Given the description of an element on the screen output the (x, y) to click on. 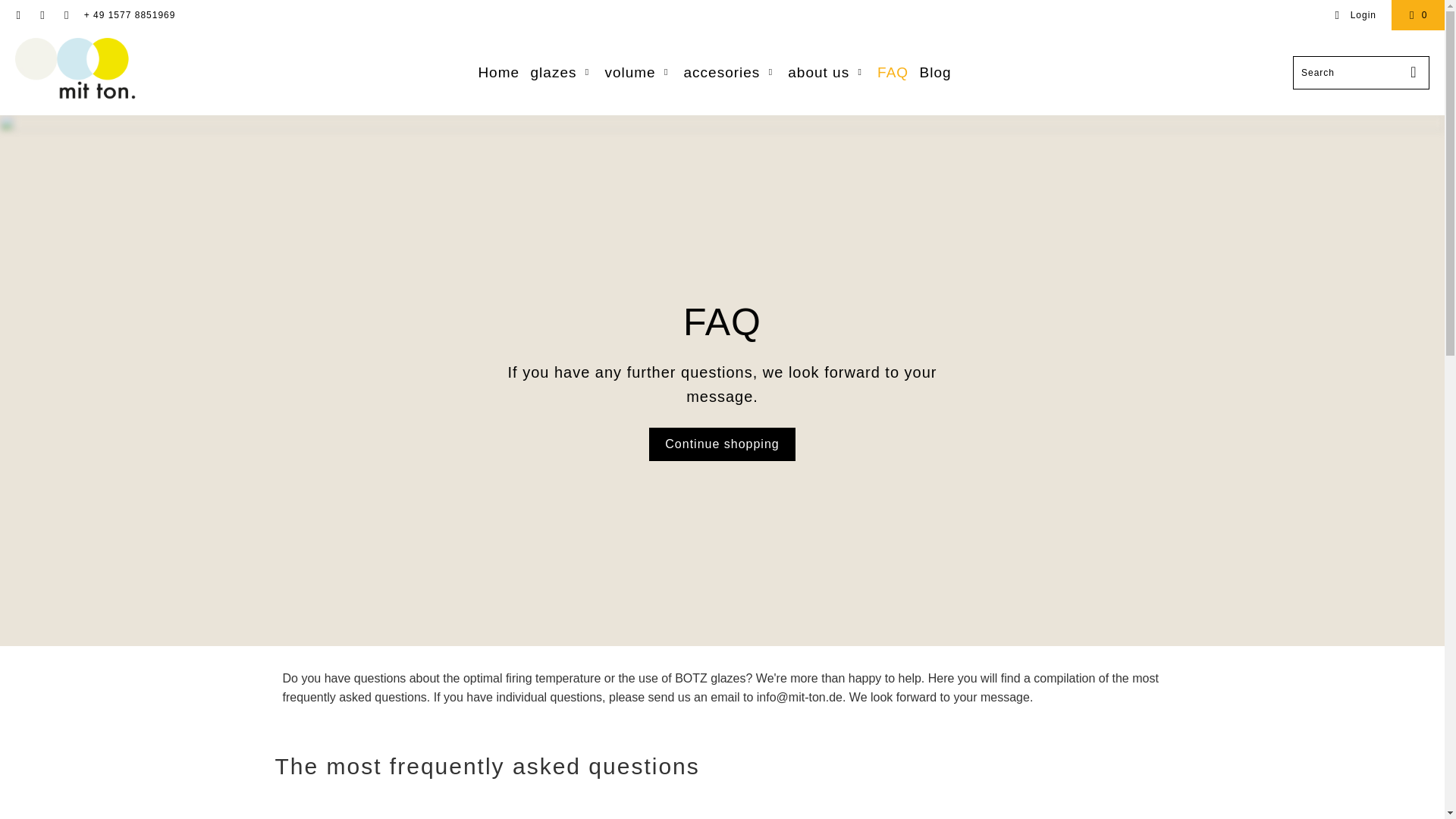
mit-ton.de on Instagram (41, 14)
Email mit-ton.de (65, 14)
My Account  (1355, 15)
Login (1355, 15)
mit-ton.de on Facebook (17, 14)
mit-ton.de (75, 72)
